Given the description of an element on the screen output the (x, y) to click on. 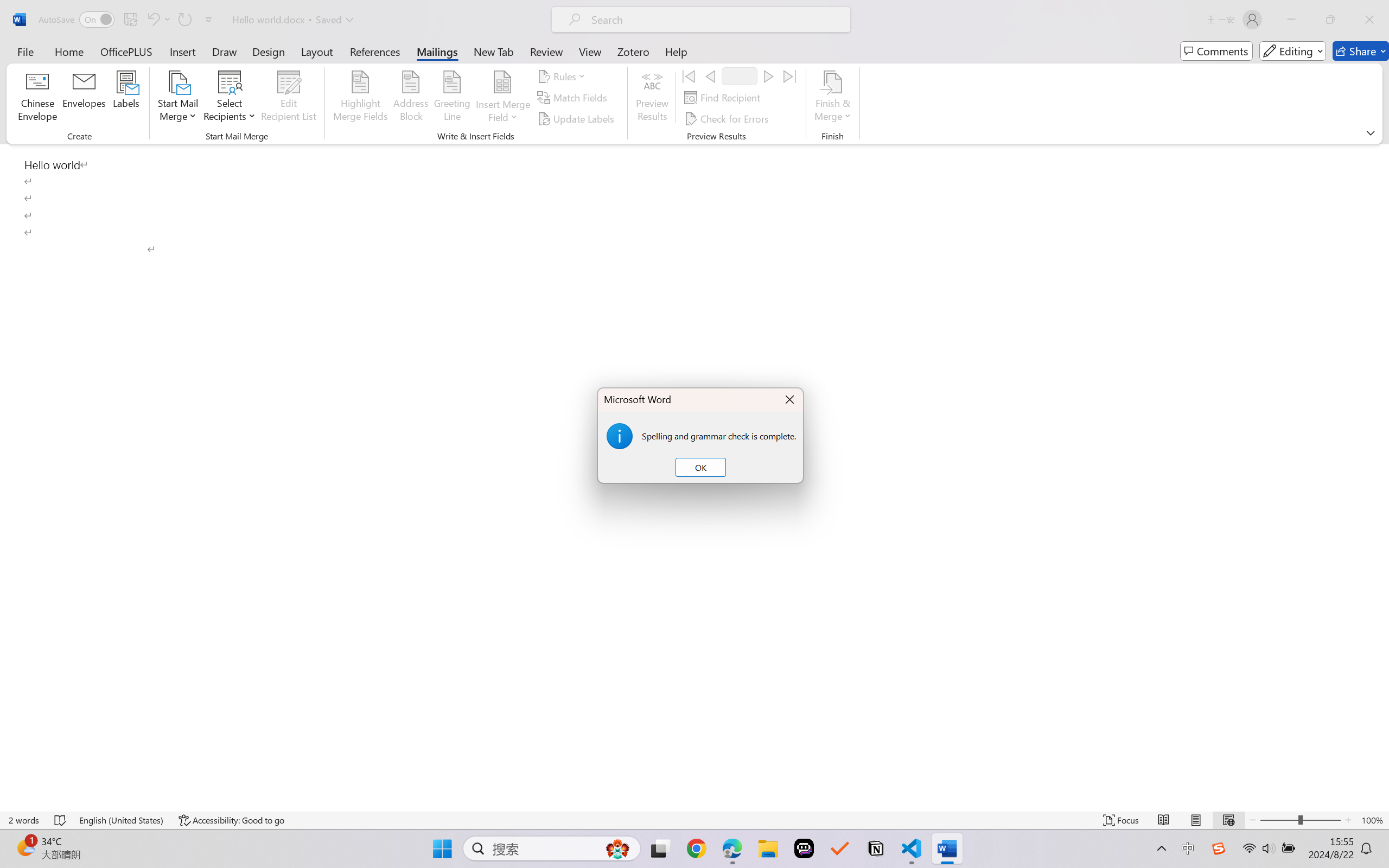
Poe (804, 848)
References (375, 51)
AutomationID: DynamicSearchBoxGleamImage (617, 848)
Update Labels (576, 118)
More Options (502, 112)
Match Fields... (573, 97)
Quick Access Toolbar (127, 19)
Start Mail Merge (177, 97)
Can't Repeat (184, 19)
Finish & Merge (832, 97)
Greeting Line... (451, 97)
